Given the description of an element on the screen output the (x, y) to click on. 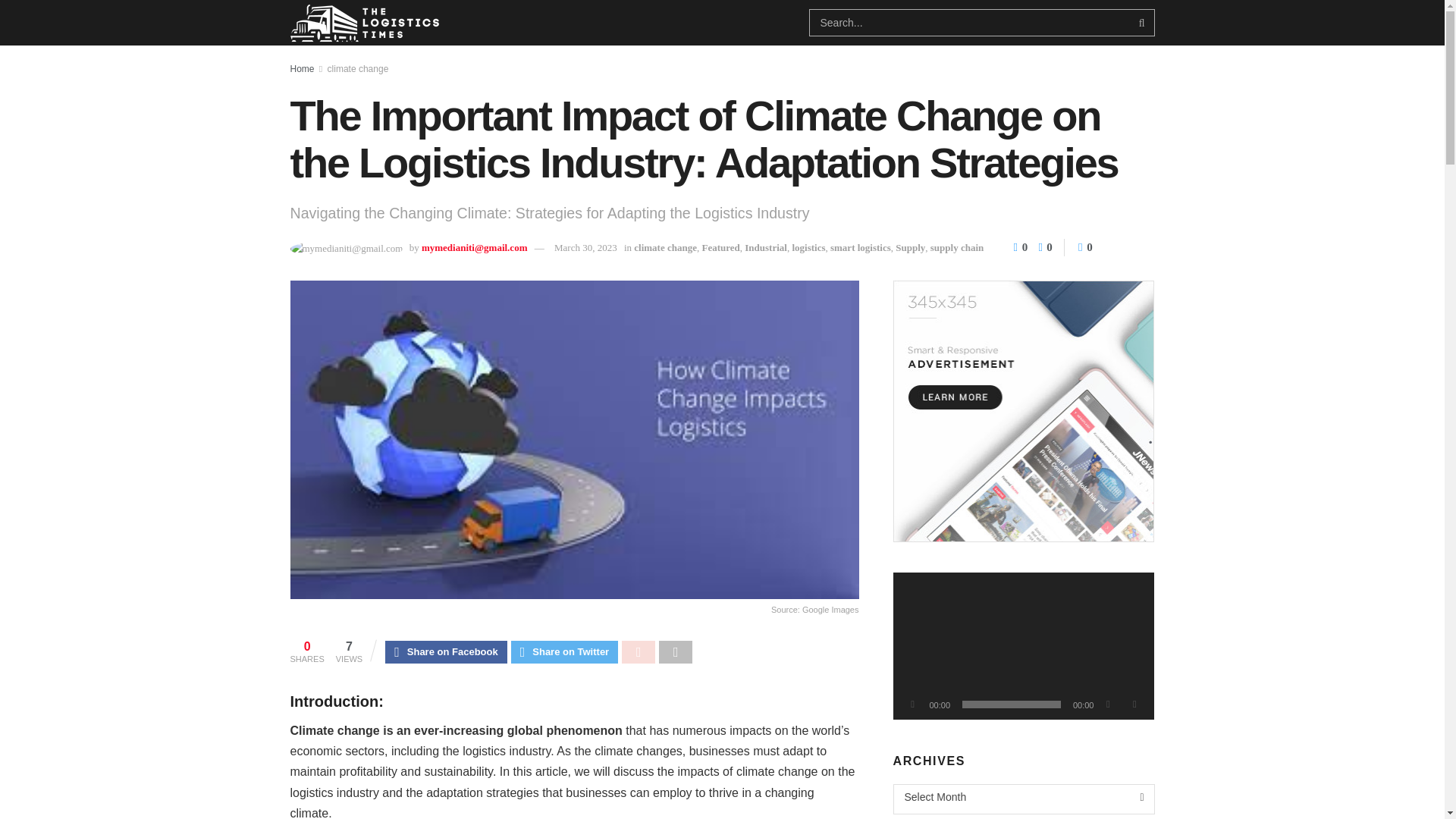
Share on Twitter (564, 651)
climate change (357, 68)
March 30, 2023 (585, 247)
smart logistics (860, 247)
Industrial (765, 247)
Fullscreen (1133, 703)
Share on Facebook (445, 651)
supply chain (957, 247)
0 (1041, 246)
Home (301, 68)
logistics (808, 247)
Play (912, 703)
0 (1085, 246)
0 (1021, 246)
